Given the description of an element on the screen output the (x, y) to click on. 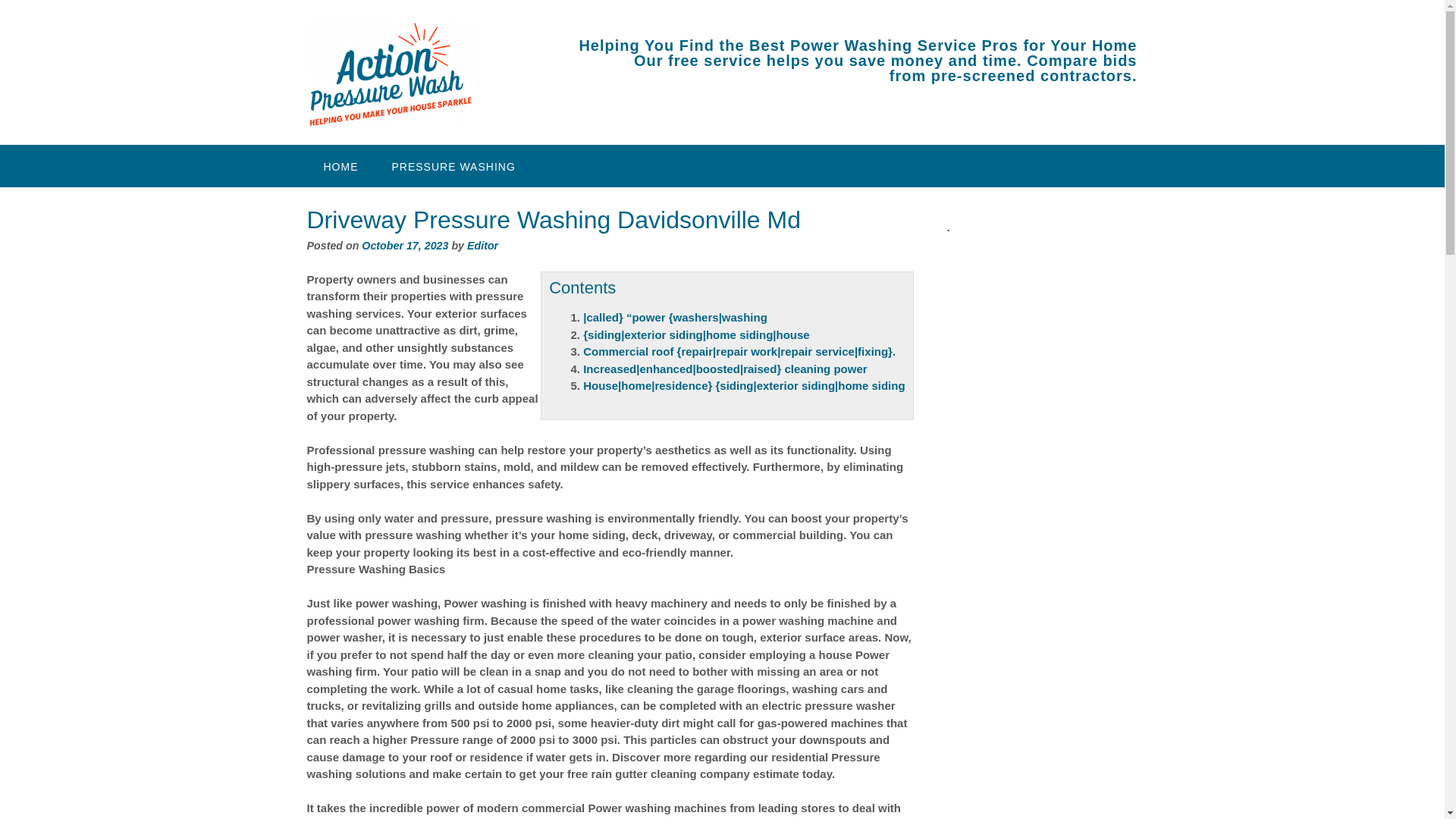
October 17, 2023 (404, 245)
Editor (482, 245)
PRESSURE WASHING (452, 165)
HOME (339, 165)
